Given the description of an element on the screen output the (x, y) to click on. 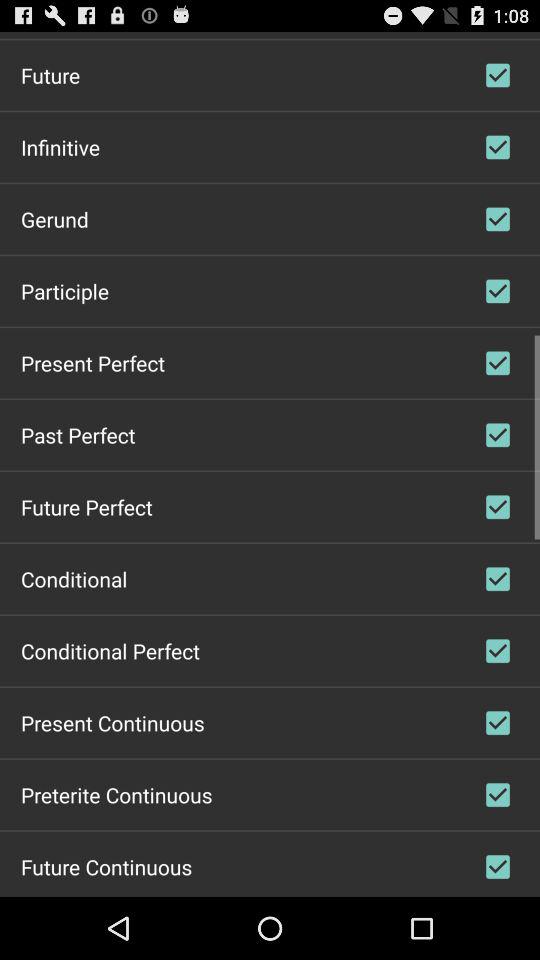
jump to future perfect app (86, 506)
